Given the description of an element on the screen output the (x, y) to click on. 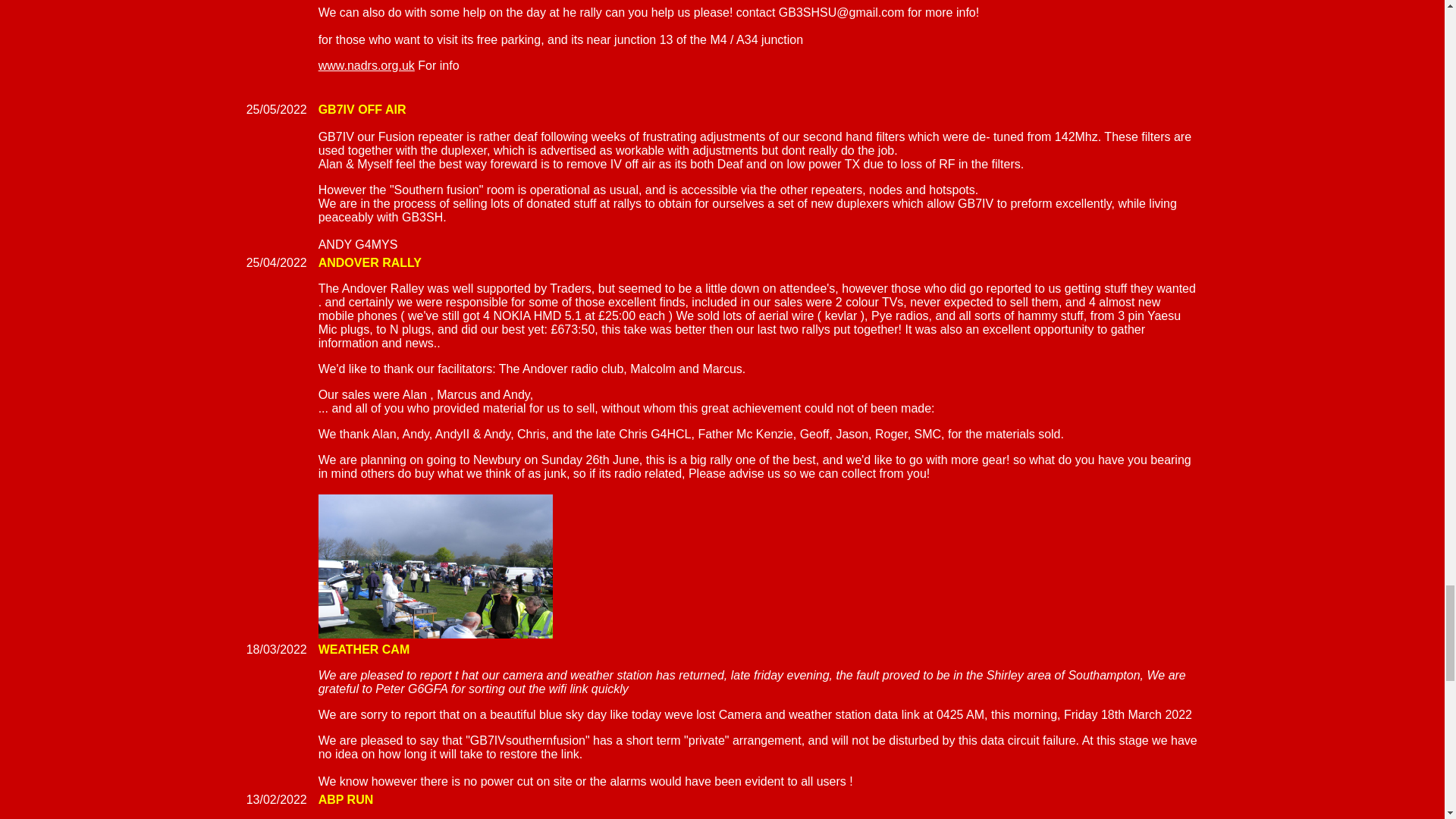
www.nadrs.org.uk (366, 65)
